Given the description of an element on the screen output the (x, y) to click on. 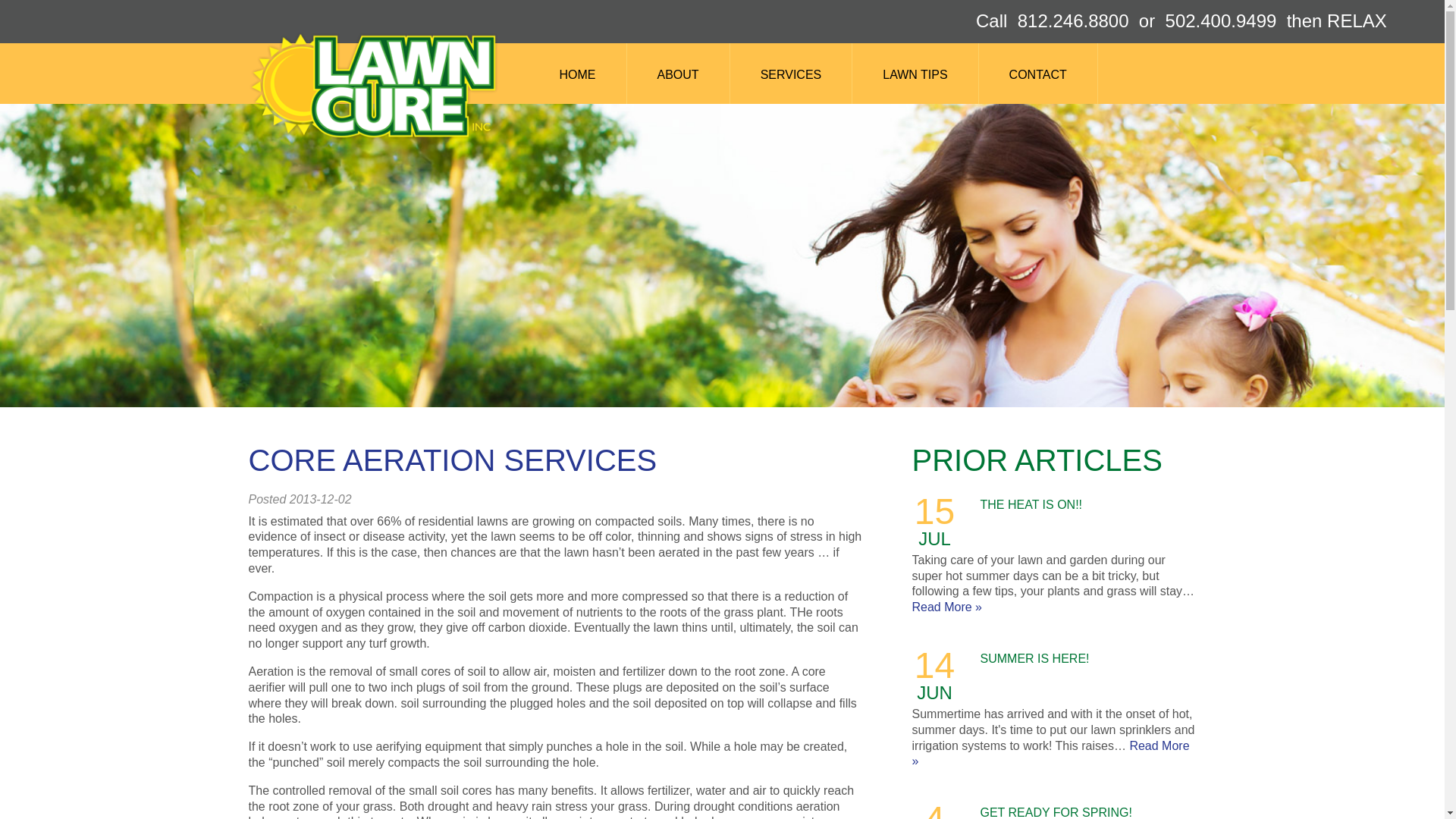
SERVICES (790, 85)
812.246.8800 (1073, 20)
CONTACT (1037, 85)
CORE AERATION SERVICES (453, 459)
LAWN TIPS (913, 85)
SUMMER IS HERE! (1034, 658)
ABOUT (677, 85)
502.400.9499 (1221, 20)
THE HEAT IS ON!! (1030, 504)
HOME (577, 85)
